Given the description of an element on the screen output the (x, y) to click on. 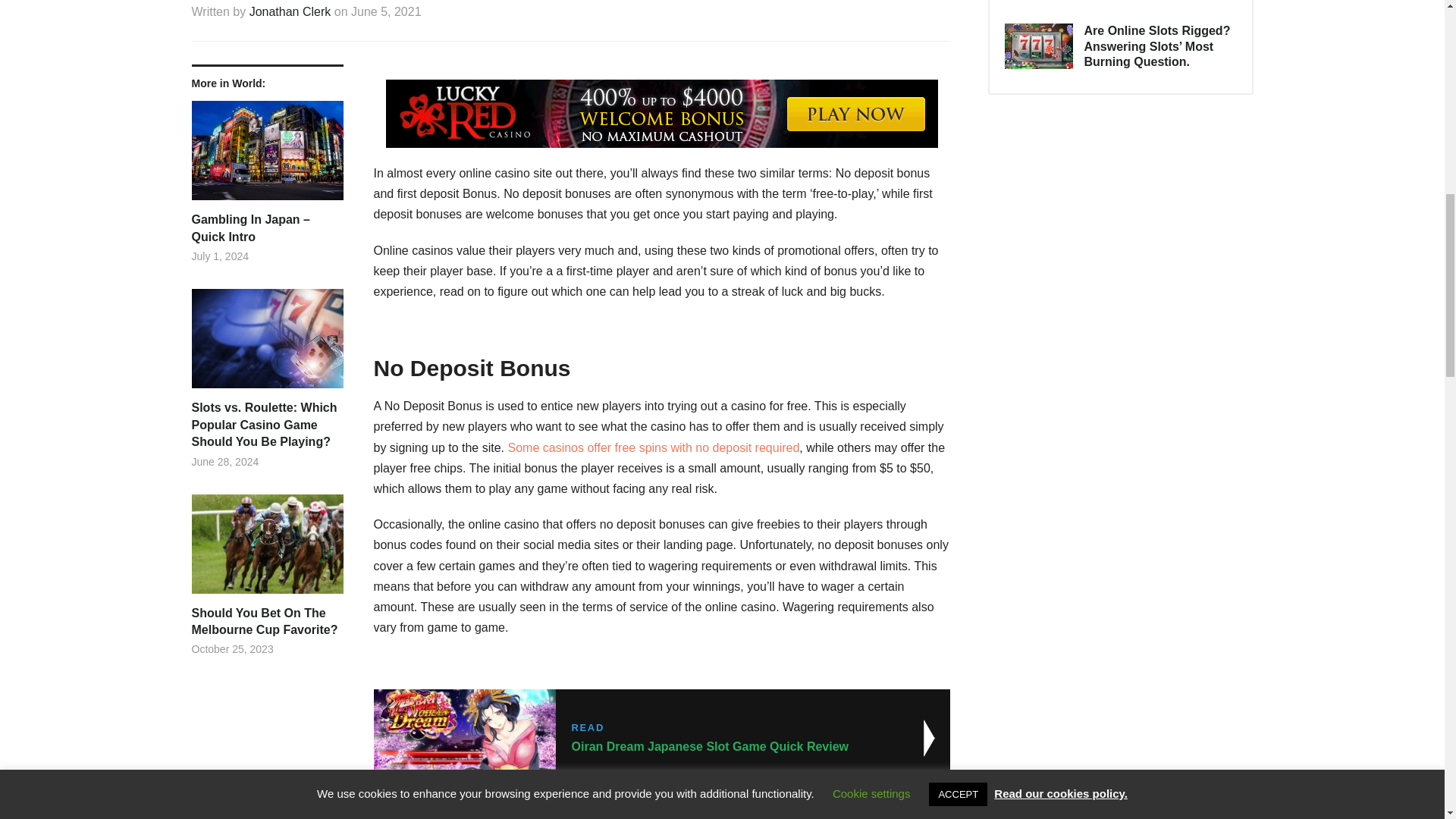
Jonathan Clerk (289, 11)
Permalink to Should You Bet On The Melbourne Cup Favorite? (266, 549)
Permalink to Should You Bet On The Melbourne Cup Favorite? (660, 738)
Some casinos offer free spins with no deposit required (266, 622)
Should You Bet On The Melbourne Cup Favorite? (653, 447)
